Given the description of an element on the screen output the (x, y) to click on. 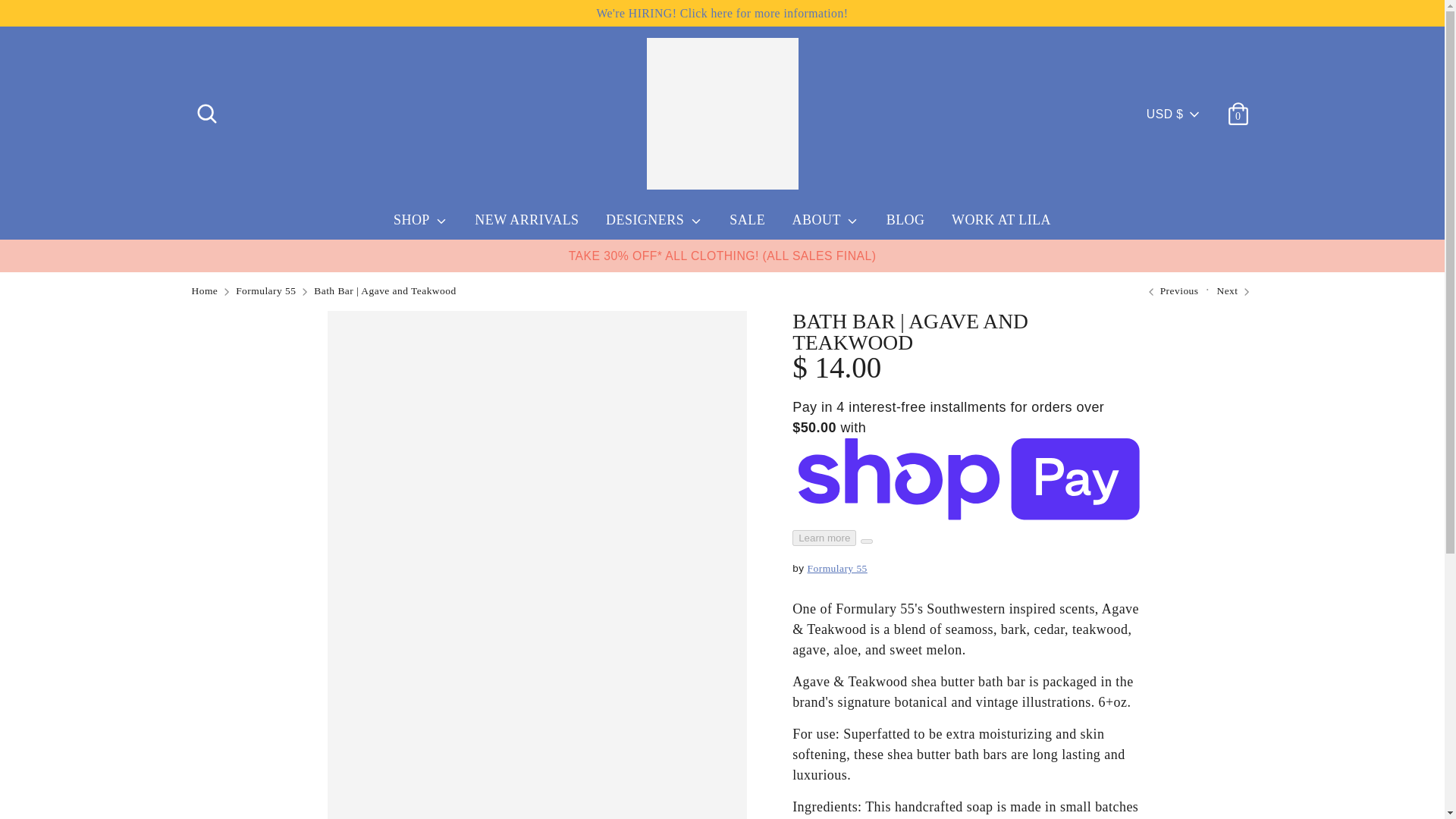
0 (1237, 108)
Diners Club (995, 769)
Search (205, 108)
PayPal (1133, 769)
Discover (1030, 769)
Mastercard (1098, 769)
American Express (961, 769)
Meta Pay (1063, 769)
